Given the description of an element on the screen output the (x, y) to click on. 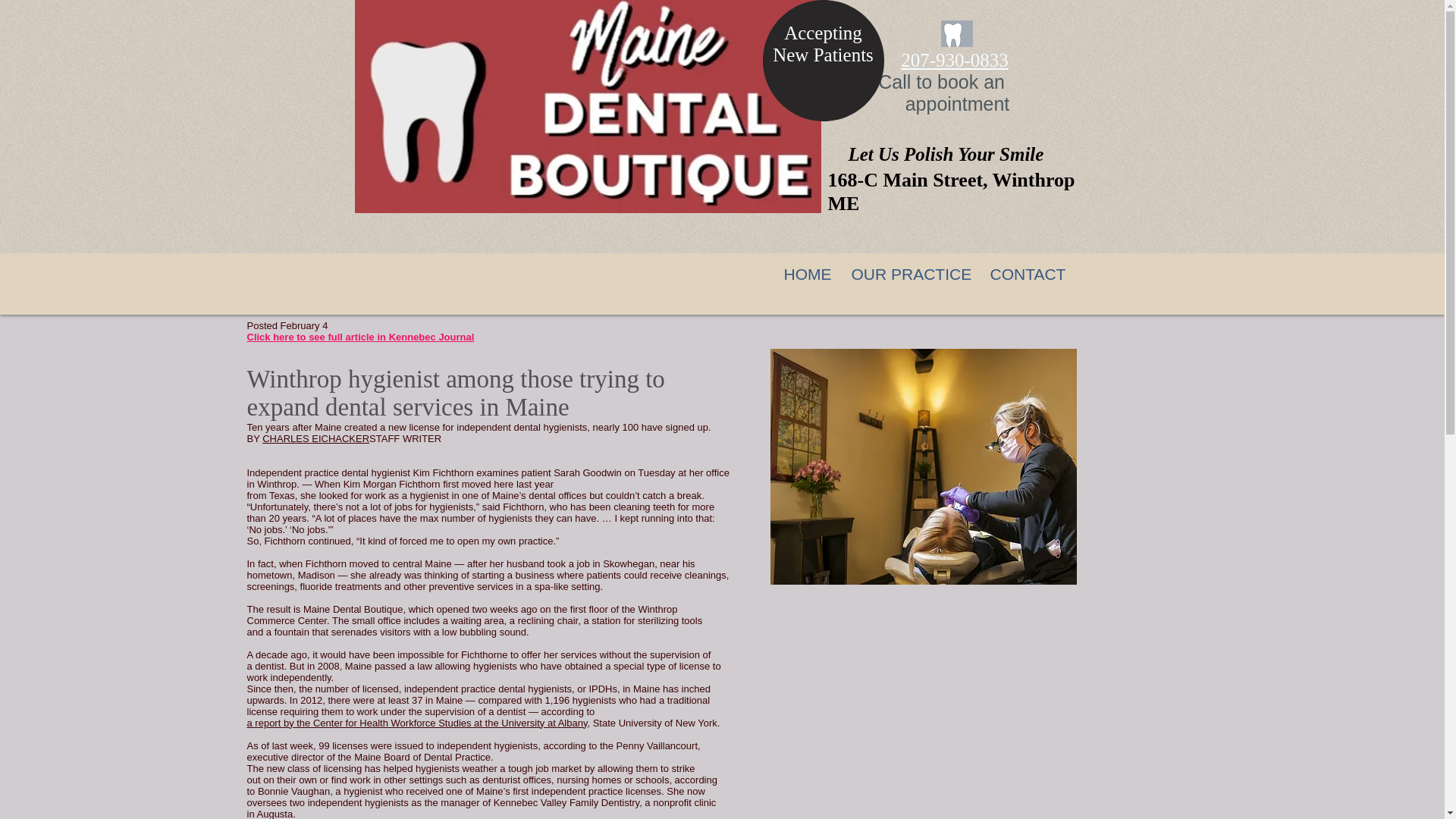
CHARLES EICHACKER (315, 437)
Kennebec Journal (431, 336)
Click here to see full article (310, 336)
CONTACT (1026, 274)
Winthrop hygienist among those trying to (456, 379)
in (381, 336)
expand dental services in Maine (408, 406)
OUR PRACTICE (910, 274)
HOME (807, 274)
207-930-0833 (955, 59)
